Given the description of an element on the screen output the (x, y) to click on. 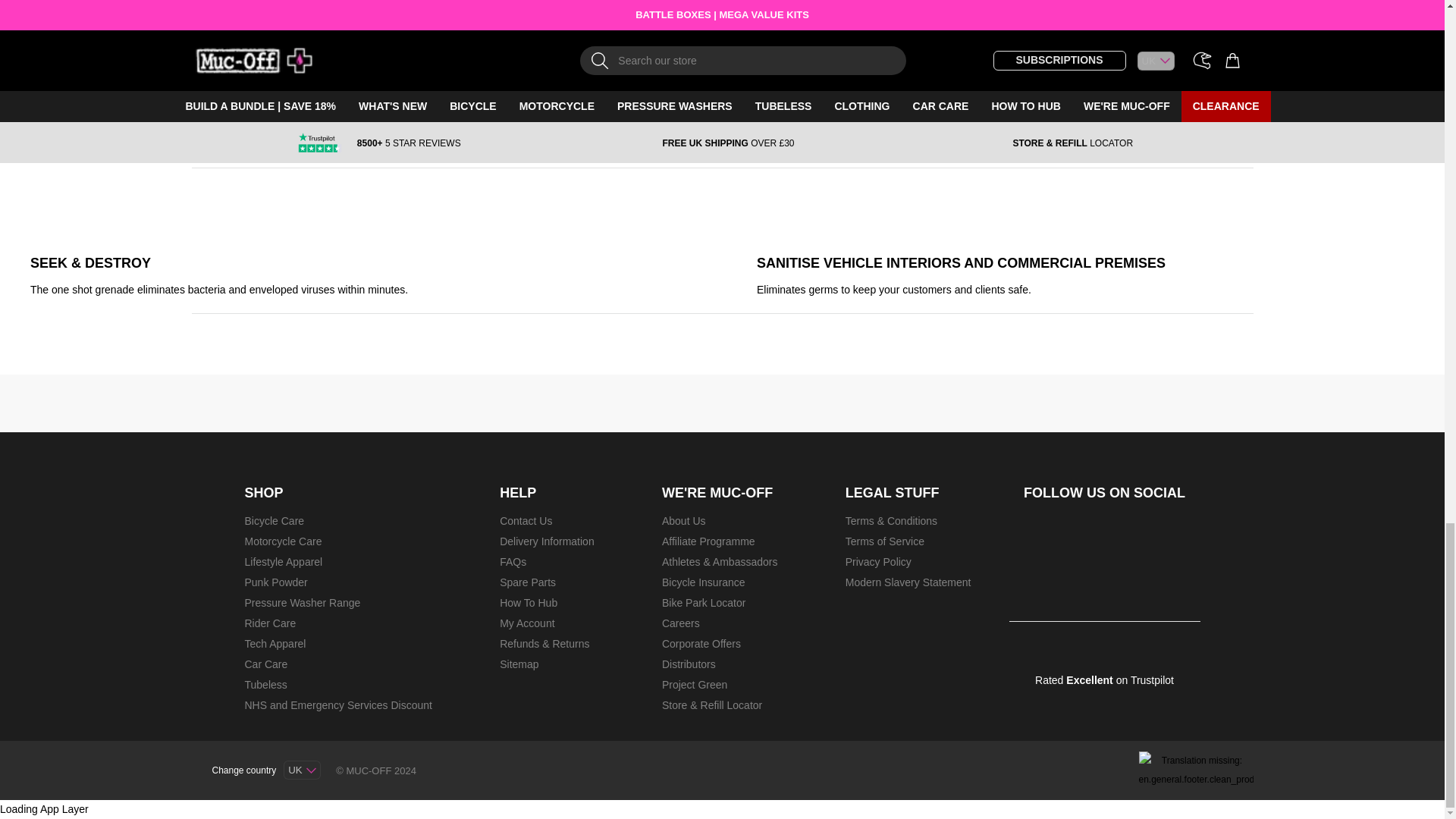
Muc-Off UK on facebook (1034, 539)
Muc-Off UK on strava (1174, 539)
Muc-Off UK on youtube (1081, 587)
Muc-Off UK on tiktok (1127, 587)
Muc-Off UK on twitter (1127, 539)
Muc-Off UK on instagram (1081, 539)
